Given the description of an element on the screen output the (x, y) to click on. 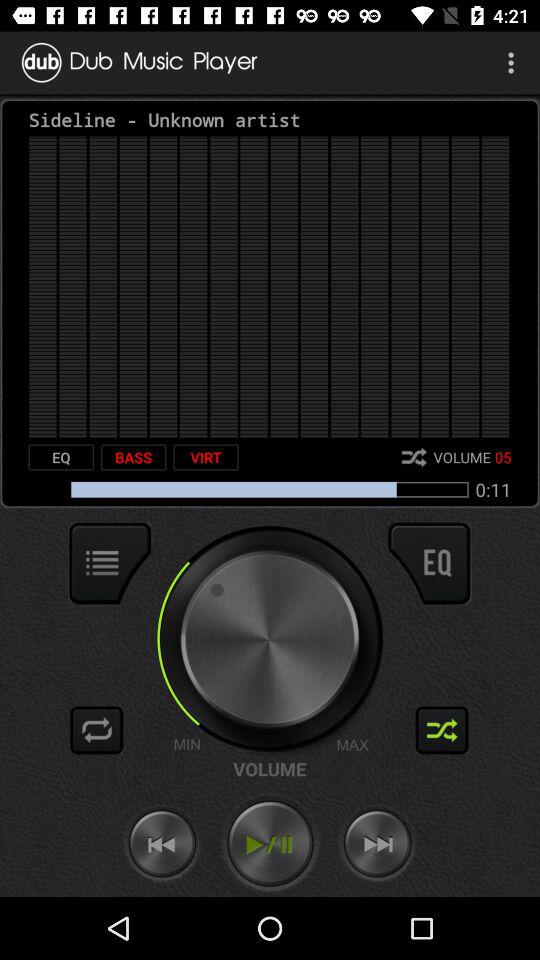
switch eq option (429, 563)
